Given the description of an element on the screen output the (x, y) to click on. 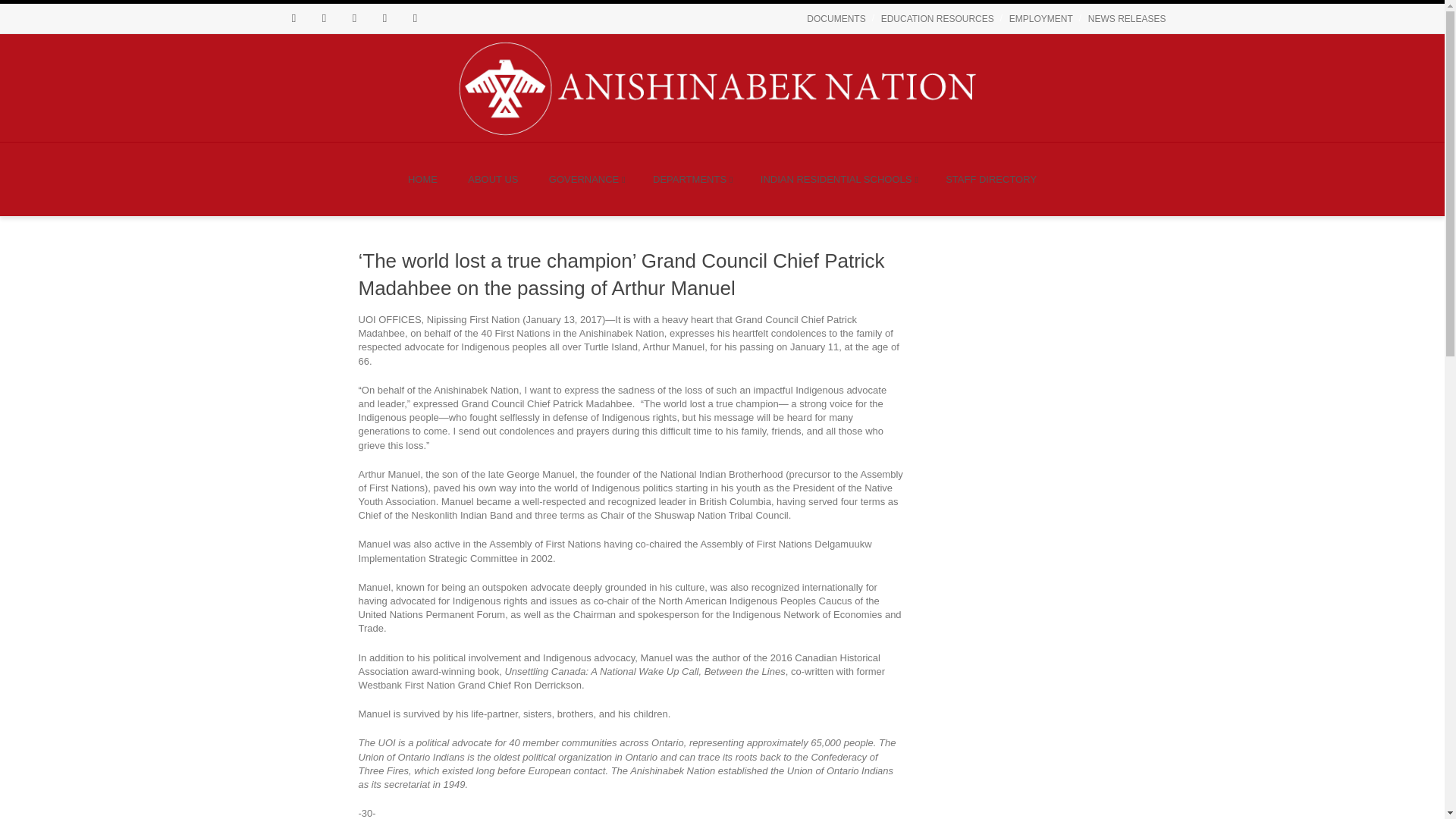
NEWS RELEASES (1126, 18)
EMPLOYMENT (1041, 18)
EDUCATION RESOURCES (937, 18)
DEPARTMENTS (690, 179)
DOCUMENTS (835, 18)
INDIAN RESIDENTIAL SCHOOLS (837, 179)
UNION OF ONTARIO INDIANS (713, 88)
GOVERNANCE (585, 179)
